Given the description of an element on the screen output the (x, y) to click on. 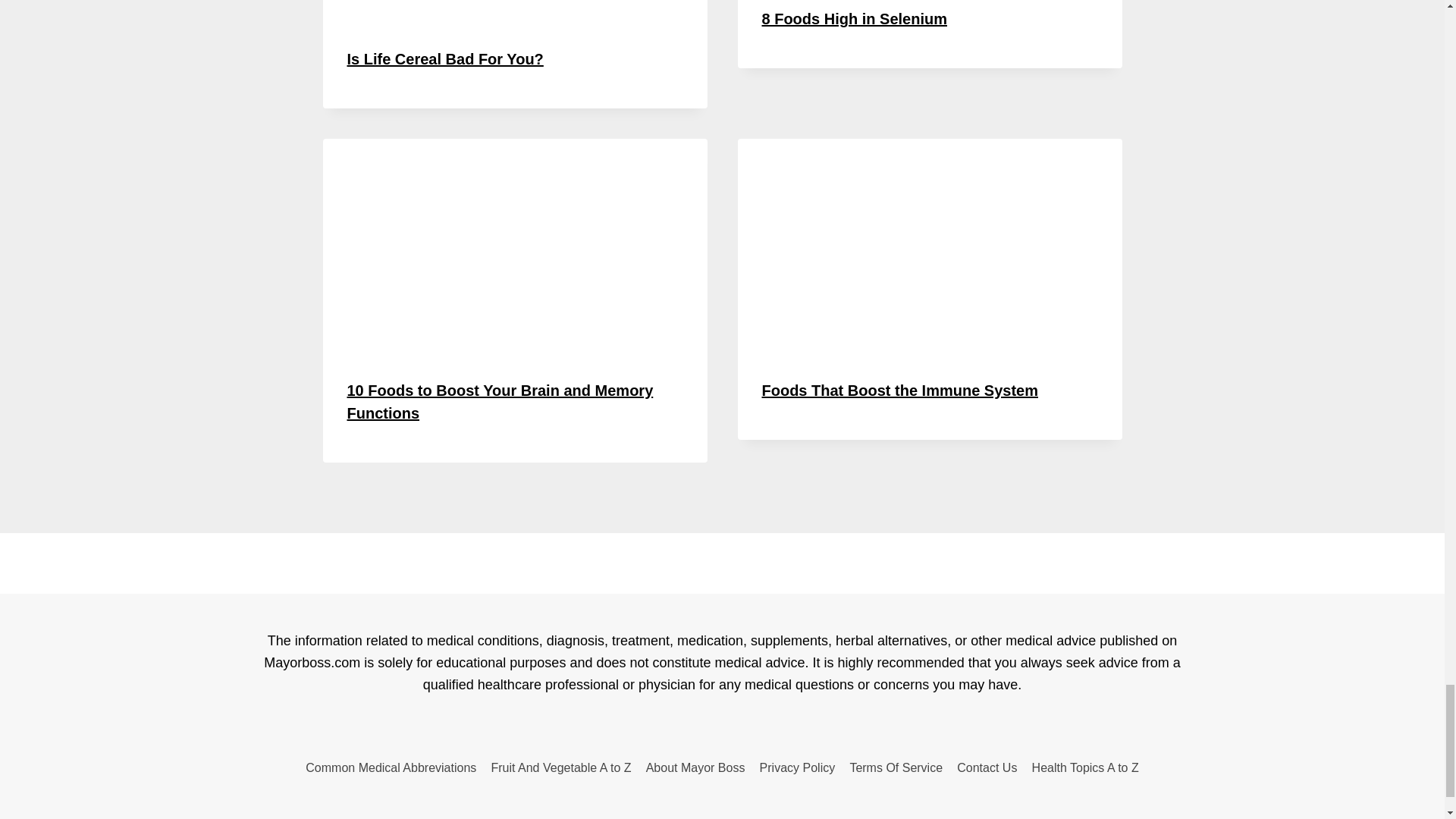
8 Foods High in Selenium (853, 18)
Fruit And Vegetable A to Z (561, 767)
Foods That Boost the Immune System (898, 390)
10 Foods to Boost Your Brain and Memory Functions (500, 401)
Common Medical Abbreviations (390, 767)
Is Life Cereal Bad For You? (445, 58)
